Given the description of an element on the screen output the (x, y) to click on. 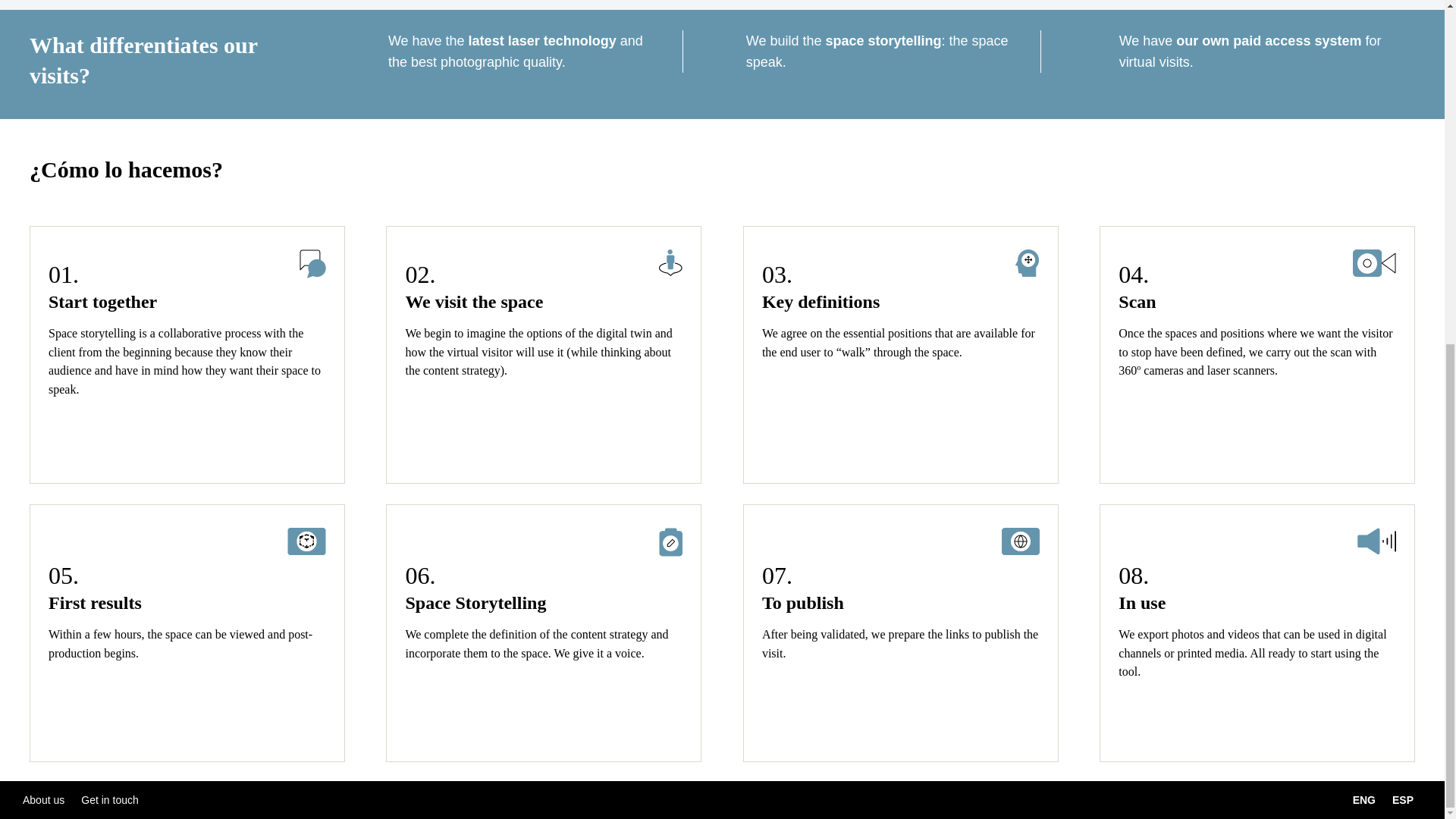
Get in touch (109, 796)
ENG (1363, 802)
About us (43, 796)
ESP (1402, 802)
